Given the description of an element on the screen output the (x, y) to click on. 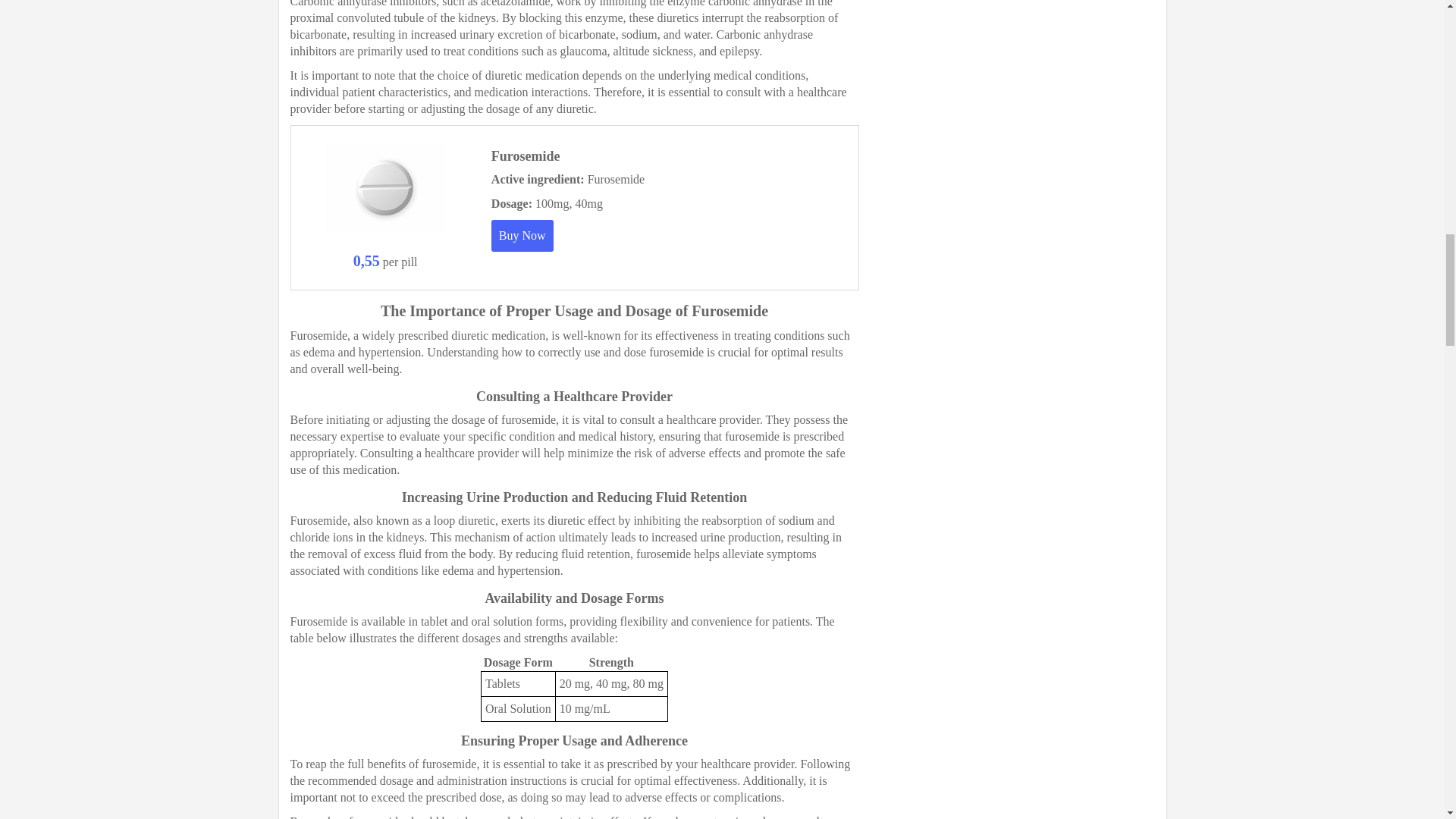
Buy Now (522, 235)
Buy Now (522, 235)
